Given the description of an element on the screen output the (x, y) to click on. 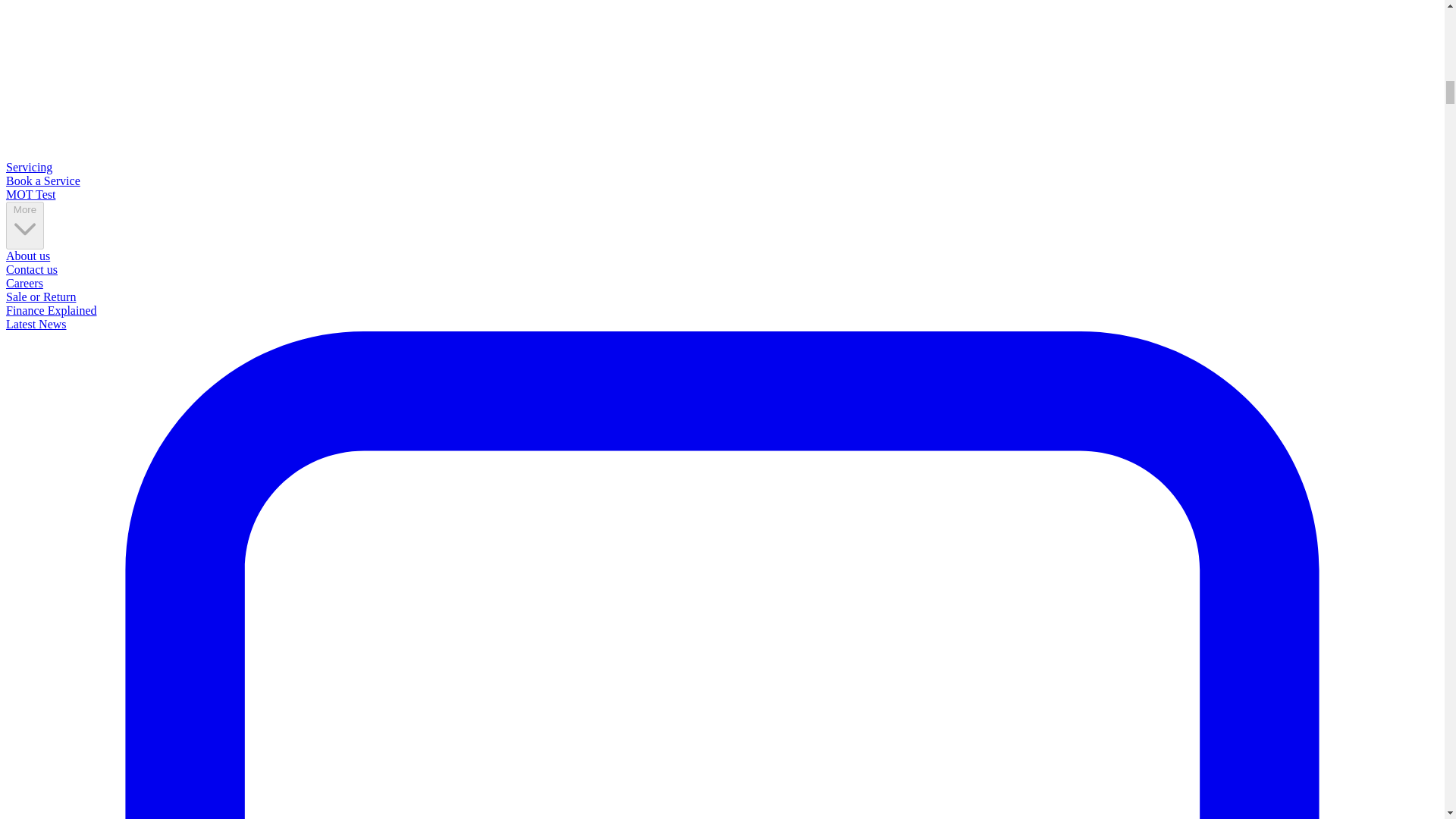
Latest News (35, 323)
Servicing (28, 166)
Careers (24, 282)
Book a Service (42, 180)
Finance Explained (51, 309)
Sale or Return (40, 296)
Contact us (31, 269)
MOT Test (30, 194)
About us (27, 255)
